Given the description of an element on the screen output the (x, y) to click on. 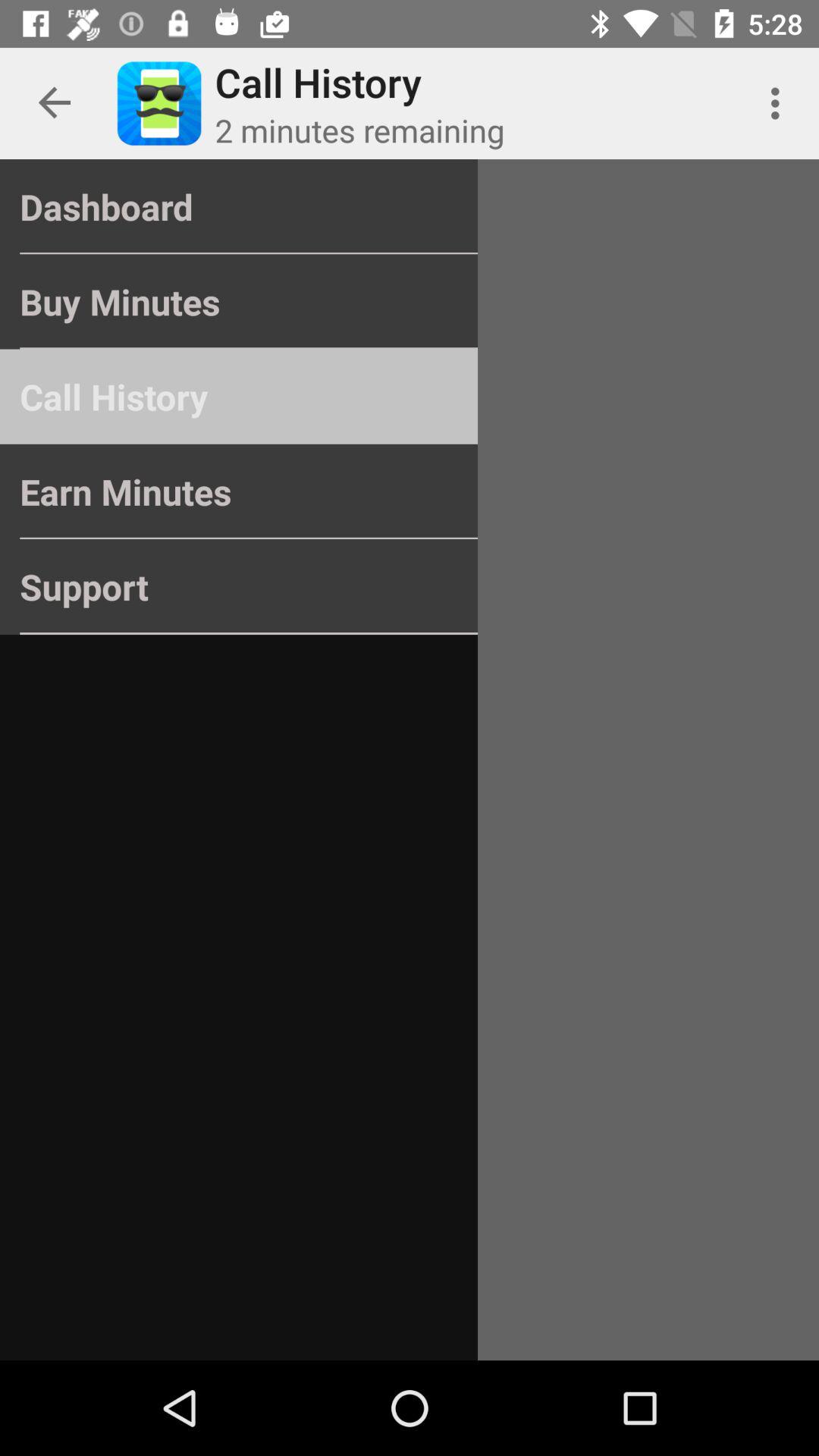
launch icon next to the 2 minutes remaining icon (779, 103)
